Given the description of an element on the screen output the (x, y) to click on. 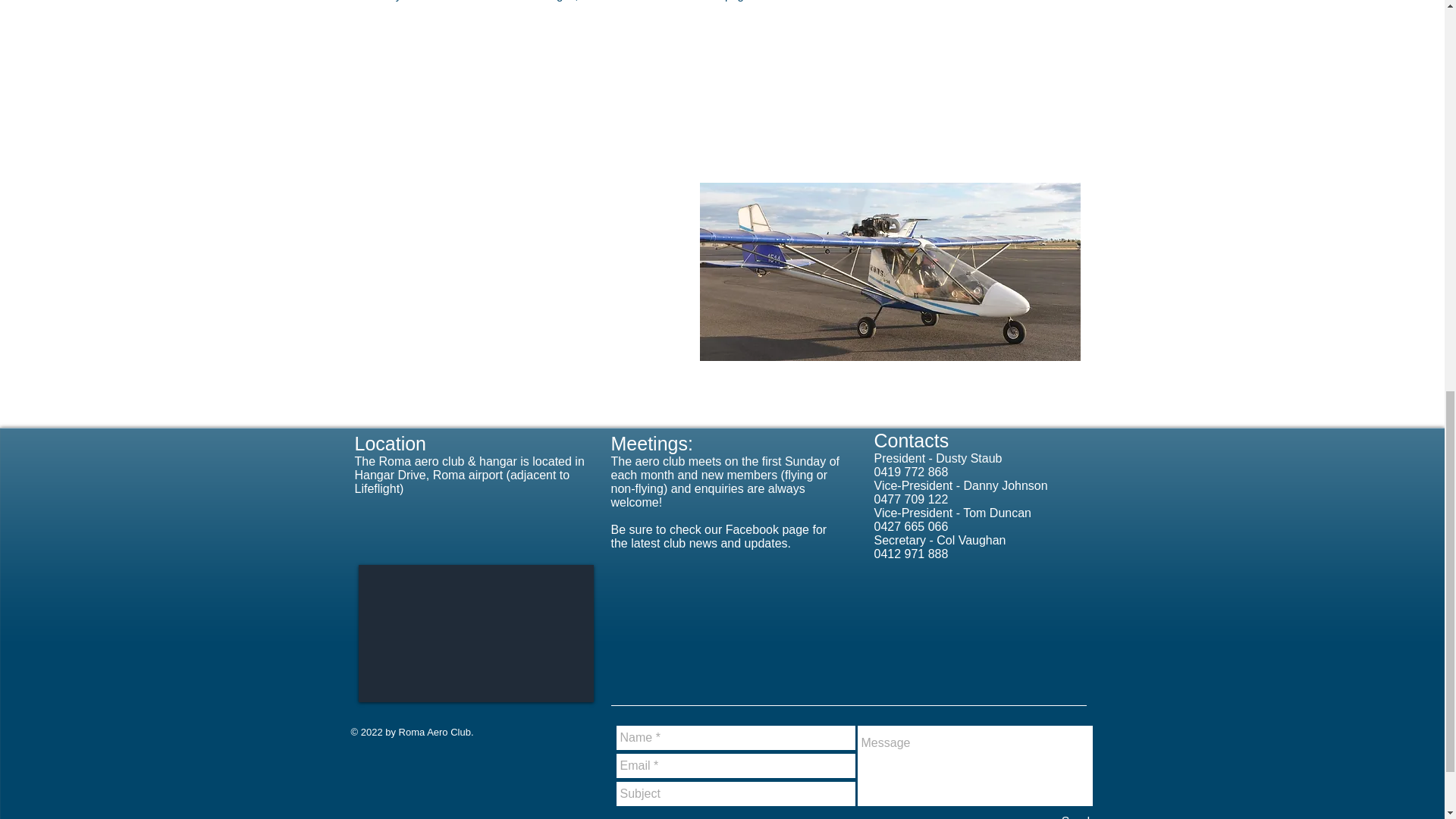
Send (1075, 814)
